Given the description of an element on the screen output the (x, y) to click on. 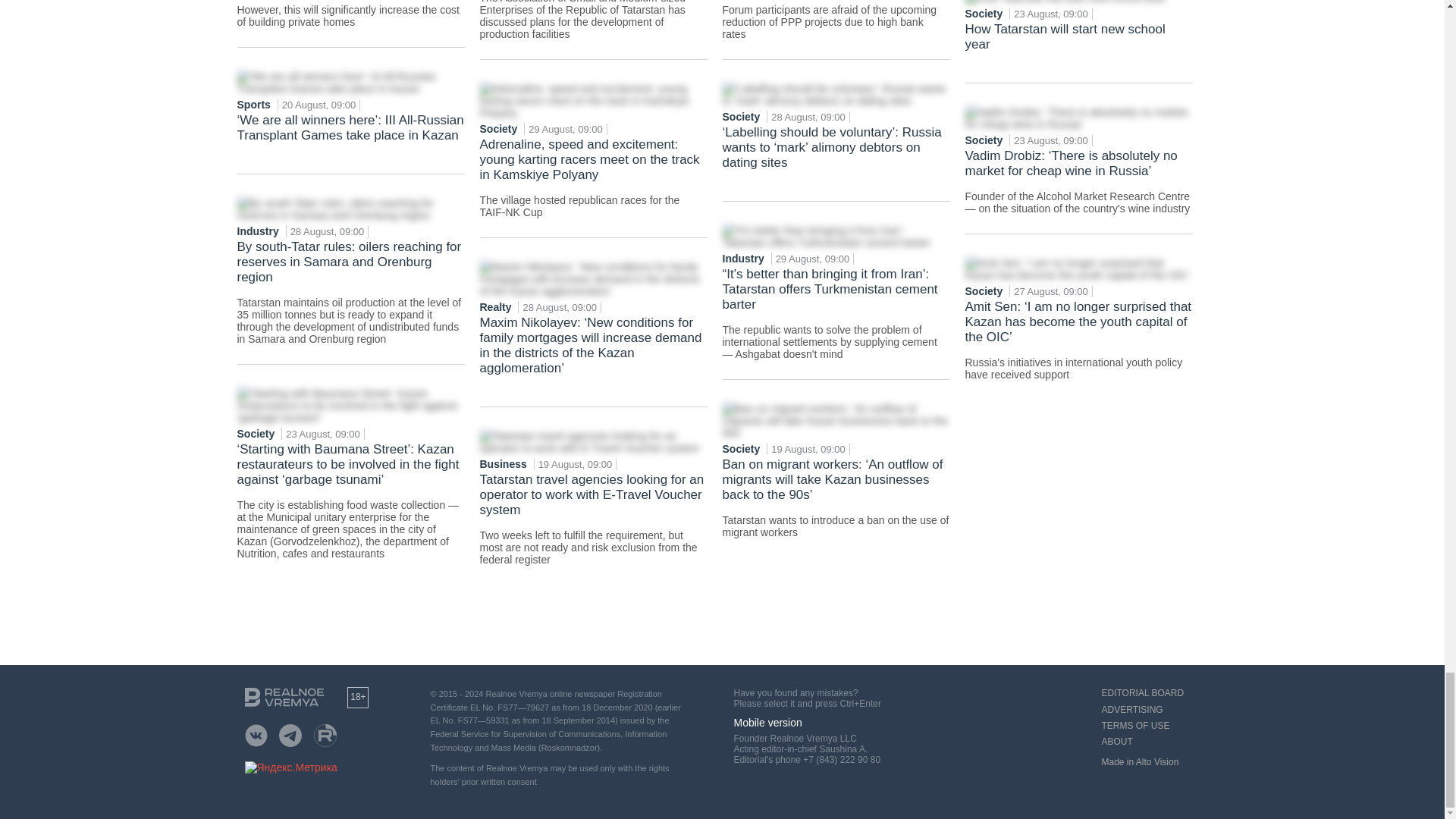
Sports (254, 104)
Industry (258, 231)
Society (256, 433)
